Given the description of an element on the screen output the (x, y) to click on. 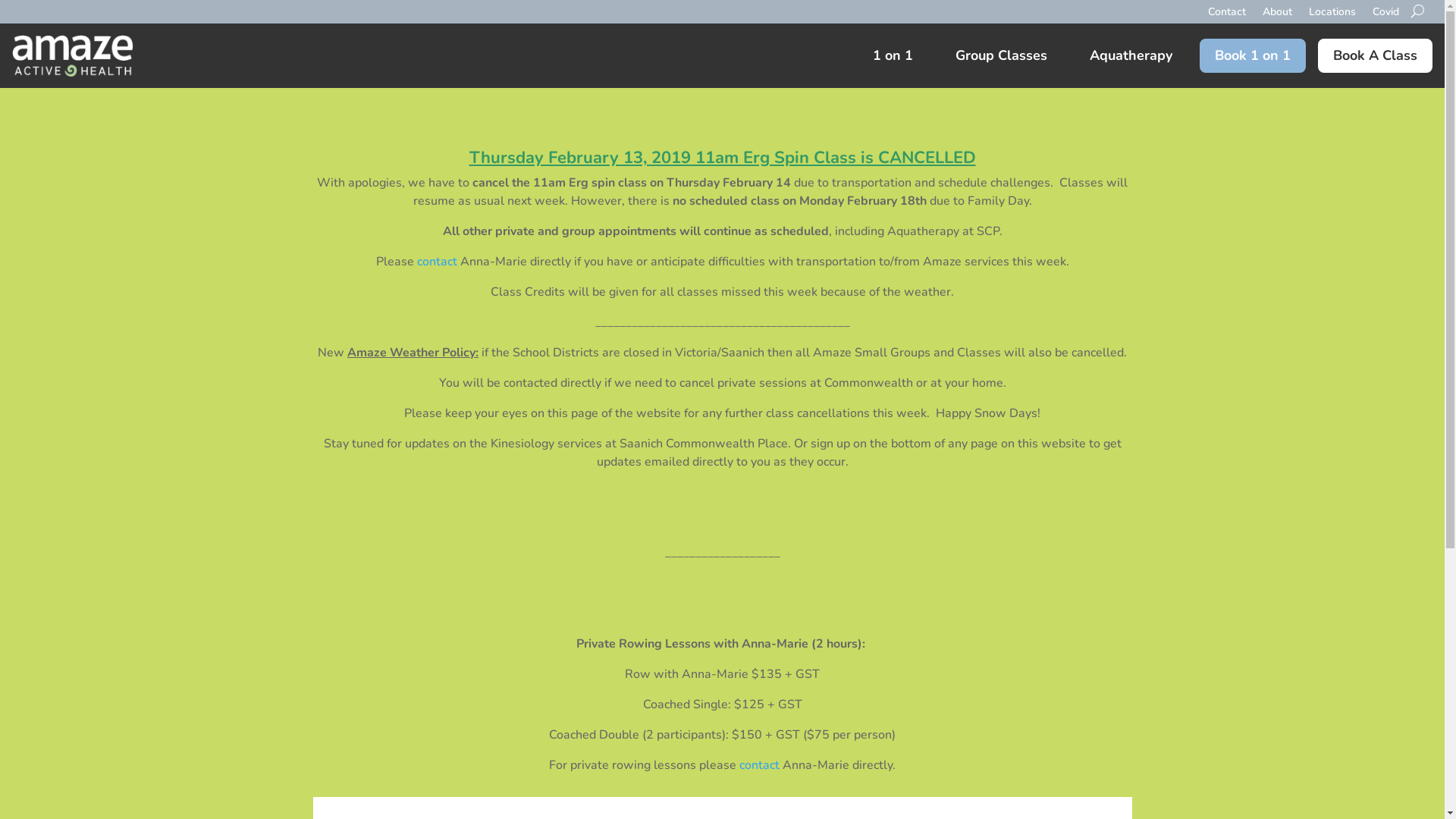
Book 1 on 1 Element type: text (1252, 55)
1 on 1 Element type: text (892, 55)
Book A Class Element type: text (1374, 55)
contact Element type: text (759, 764)
Contact Element type: text (1226, 22)
AMAZE_Logo2022 Element type: hover (72, 55)
Covid Element type: text (1385, 22)
Aquatherapy Element type: text (1130, 55)
Locations Element type: text (1331, 22)
Group Classes Element type: text (1001, 55)
contact  Element type: text (438, 261)
About Element type: text (1277, 22)
